Given the description of an element on the screen output the (x, y) to click on. 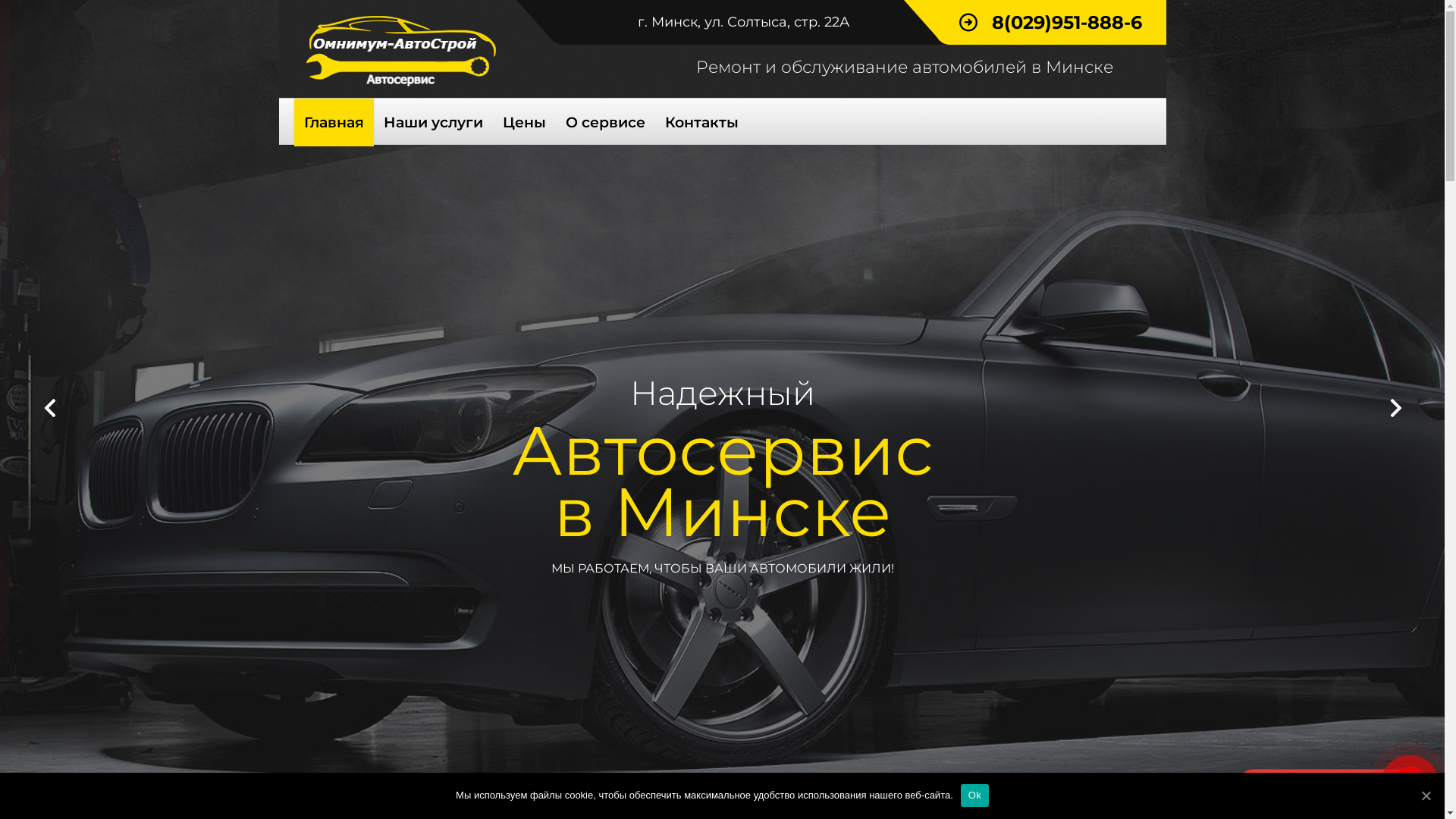
Ok Element type: text (974, 795)
Previous Element type: text (48, 408)
Next Element type: text (1394, 408)
8 (029) 501-88-86 Element type: text (1314, 783)
8(029)951-888-6 Element type: text (1049, 22)
